Given the description of an element on the screen output the (x, y) to click on. 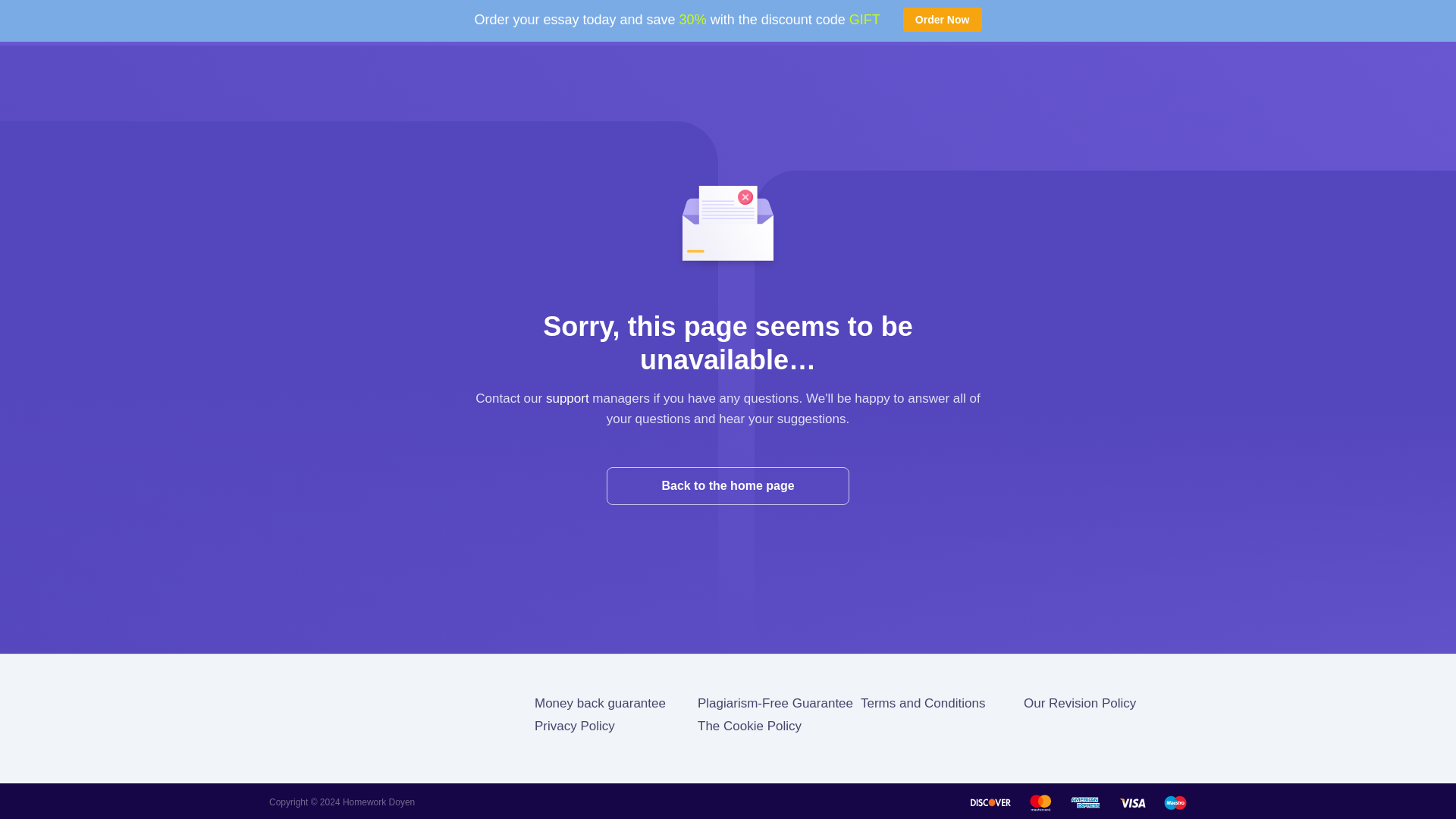
Back to the home page (727, 485)
Chat Now (1055, 21)
Order Now (941, 19)
LOG IN (772, 21)
PRICING (711, 21)
Our Revision Policy (1079, 703)
support (567, 398)
Order Now (1201, 22)
ABOUT US (429, 21)
HOW IT WORKS (515, 21)
